Given the description of an element on the screen output the (x, y) to click on. 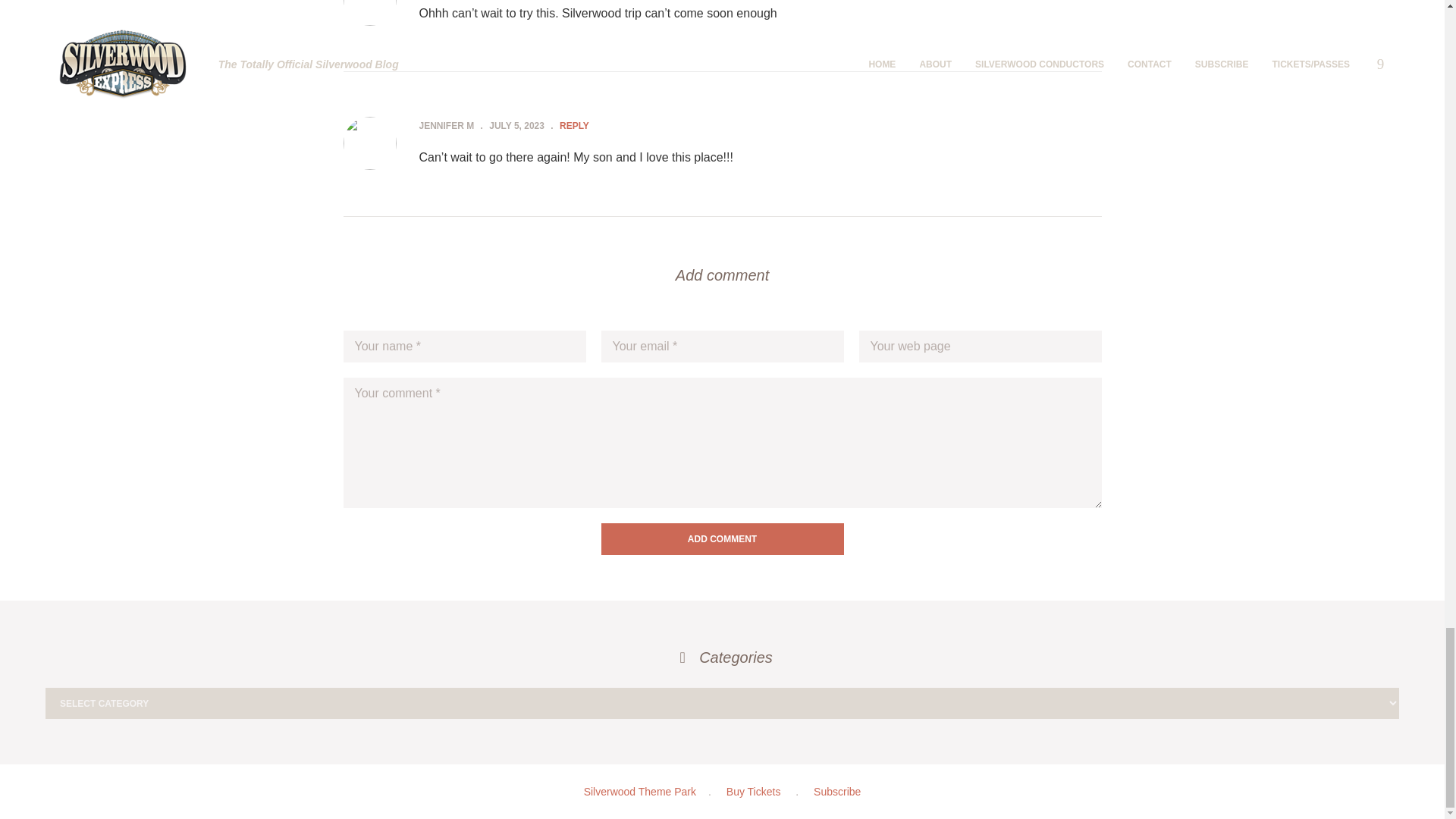
Silverwood (639, 791)
ADD COMMENT (721, 539)
Subscribe (836, 791)
REPLY (574, 125)
